Given the description of an element on the screen output the (x, y) to click on. 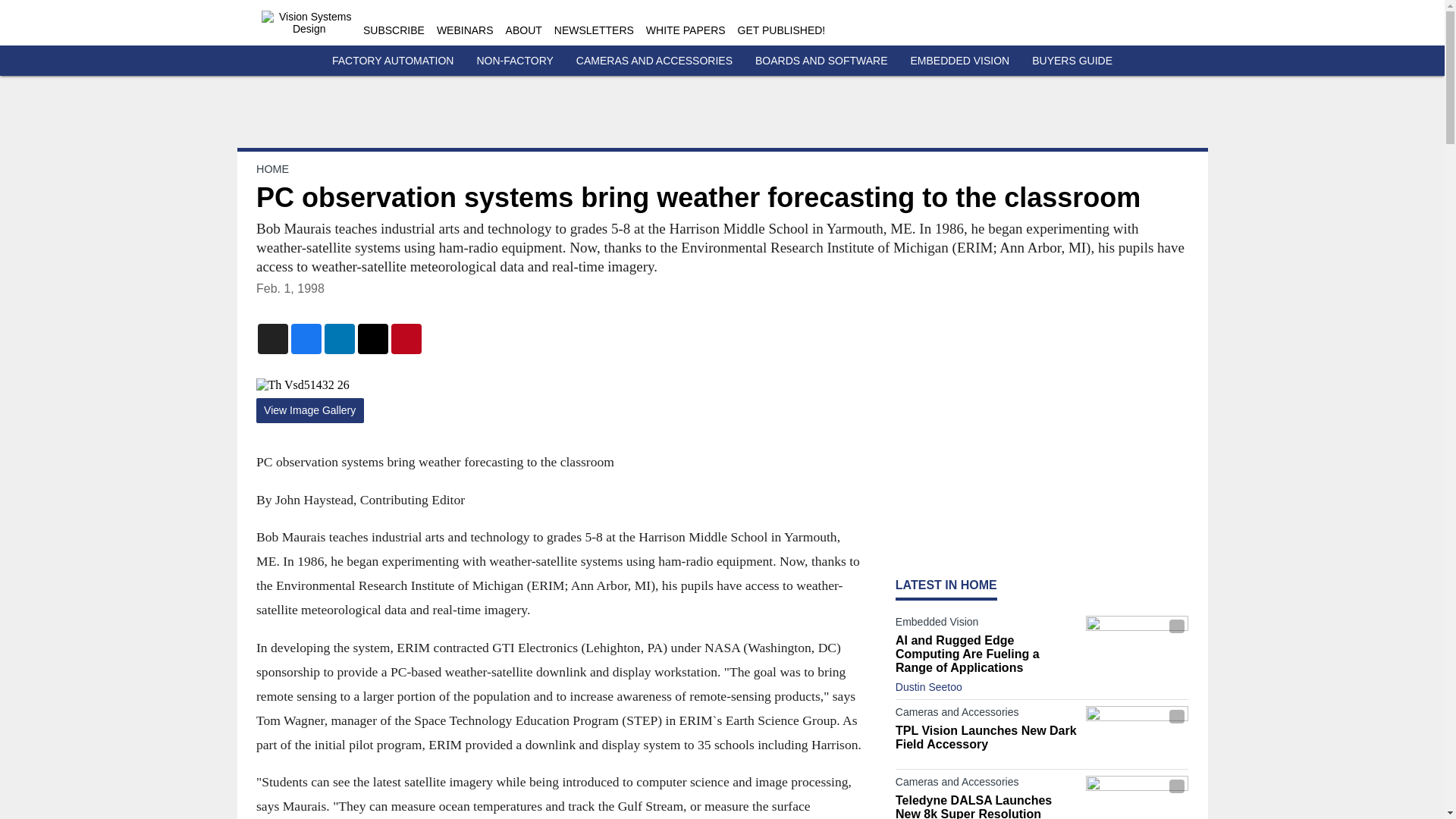
HOME (272, 168)
BOARDS AND SOFTWARE (821, 60)
Cameras and Accessories (986, 784)
Cameras and Accessories (986, 714)
FACTORY AUTOMATION (392, 60)
CAMERAS AND ACCESSORIES (654, 60)
Embedded Vision (986, 624)
NON-FACTORY (514, 60)
ABOUT (523, 30)
GET PUBLISHED! (781, 30)
